Given the description of an element on the screen output the (x, y) to click on. 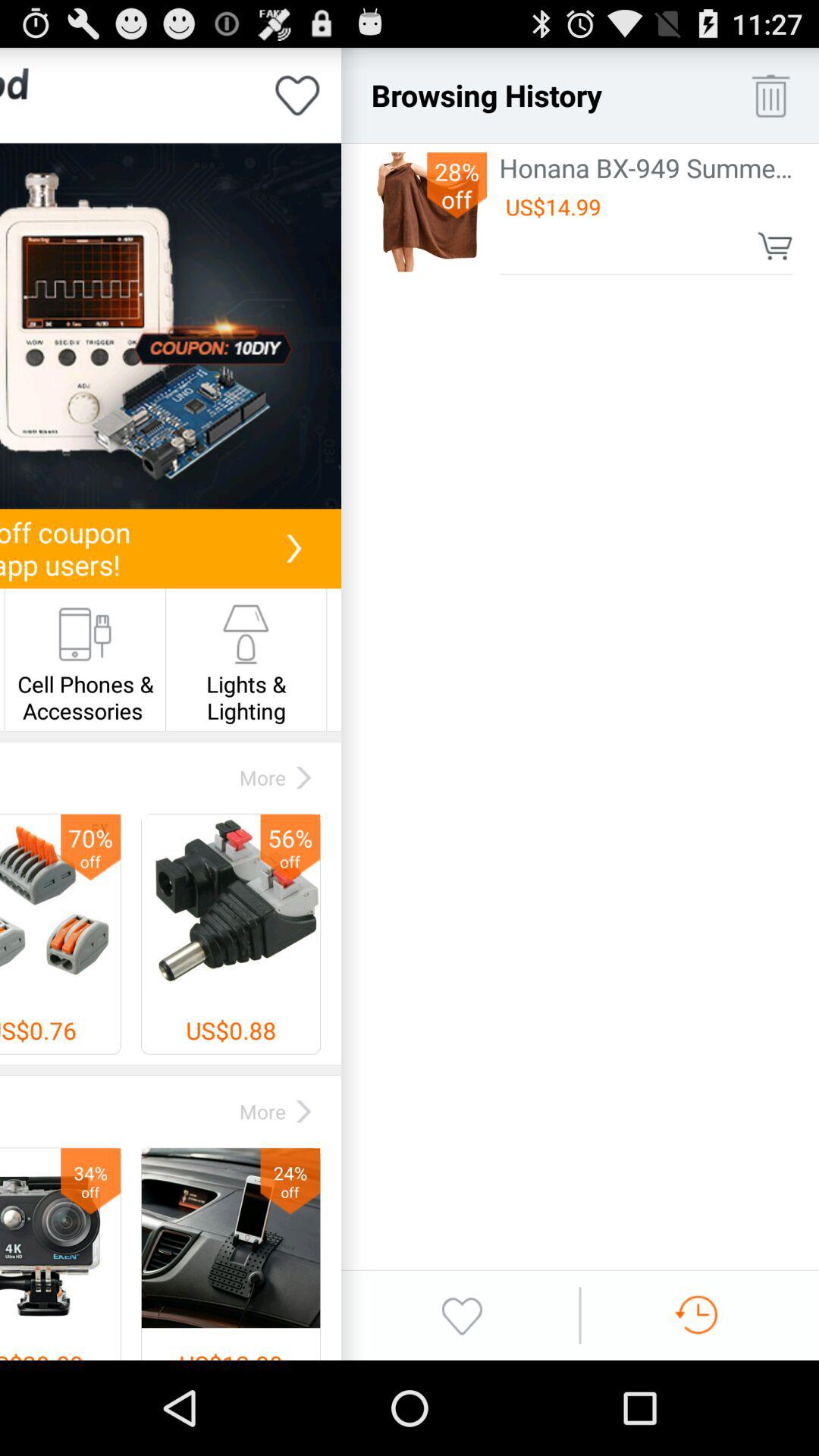
announcement (170, 326)
